Given the description of an element on the screen output the (x, y) to click on. 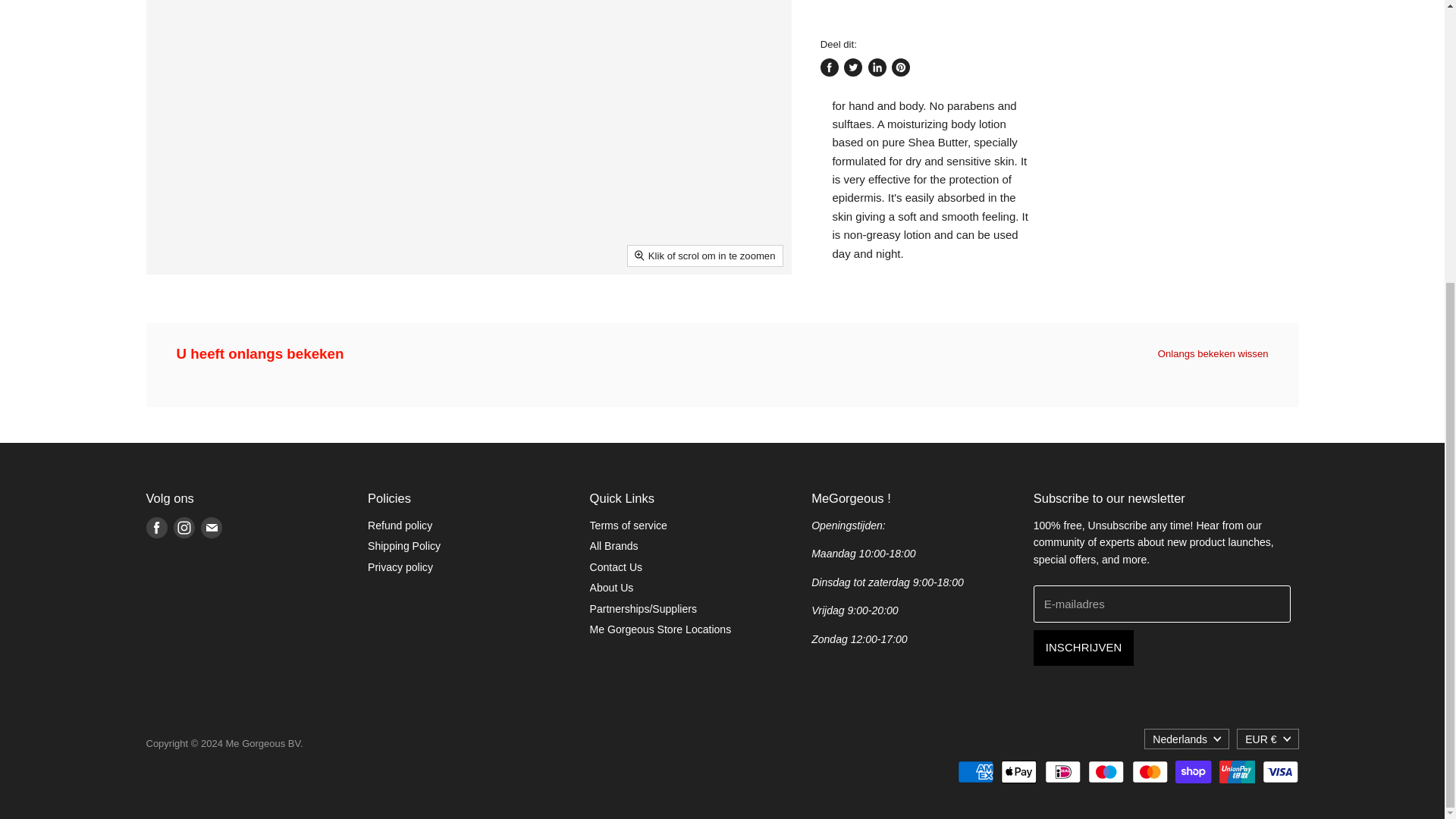
Instagram (183, 527)
E-mail (210, 527)
Facebook (156, 527)
